Given the description of an element on the screen output the (x, y) to click on. 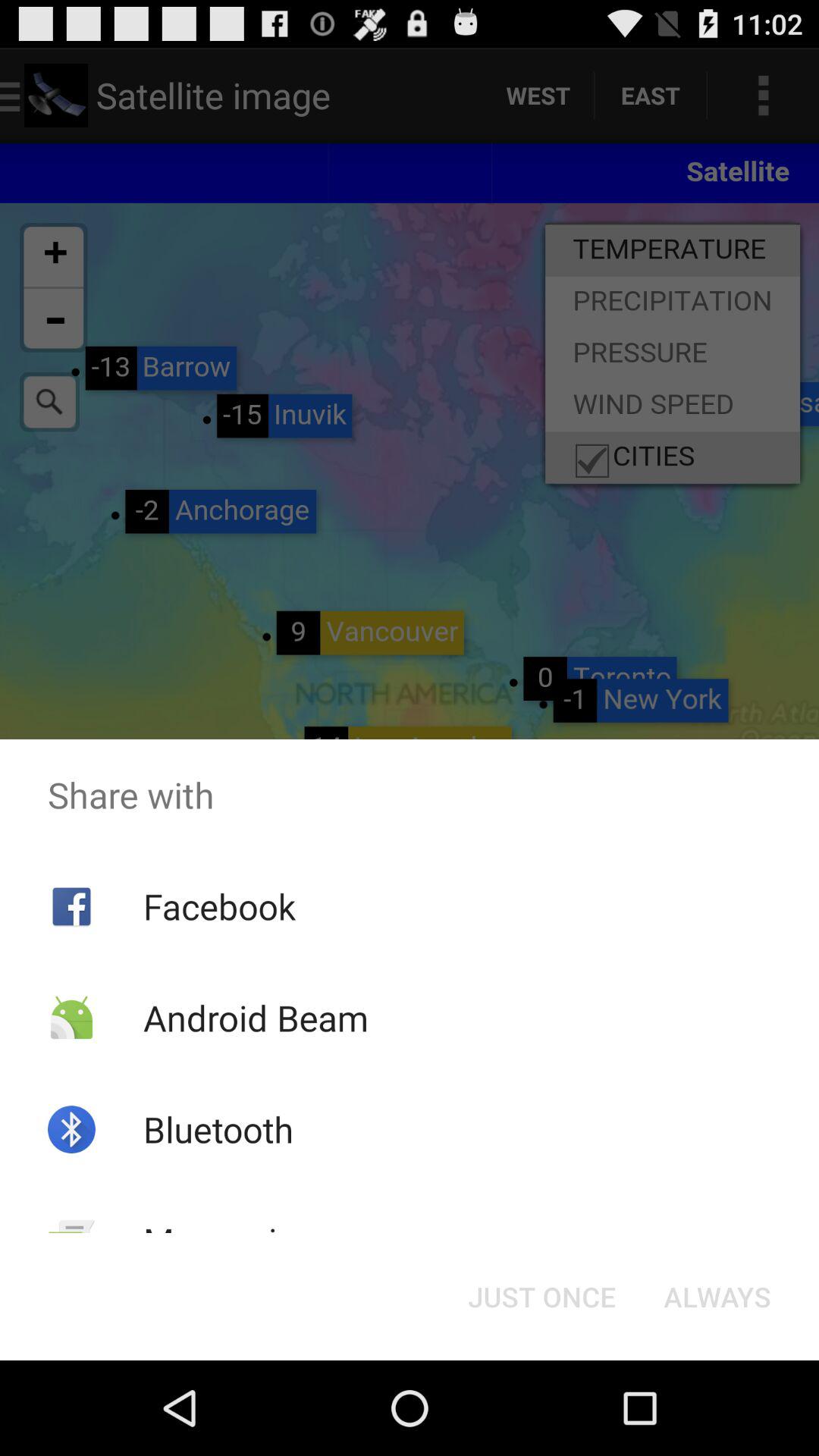
click messaging (229, 1240)
